Given the description of an element on the screen output the (x, y) to click on. 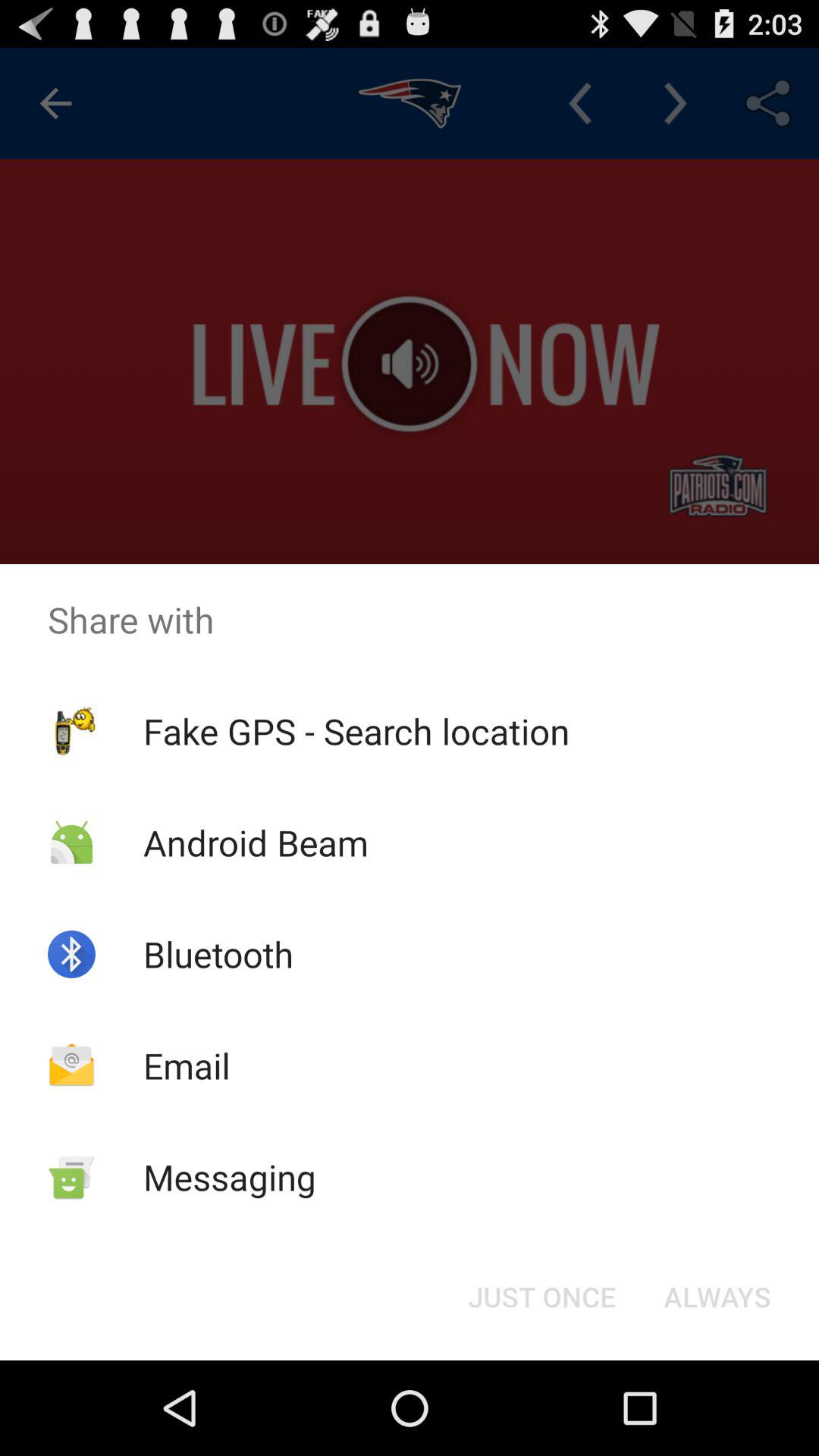
flip to always (717, 1296)
